Given the description of an element on the screen output the (x, y) to click on. 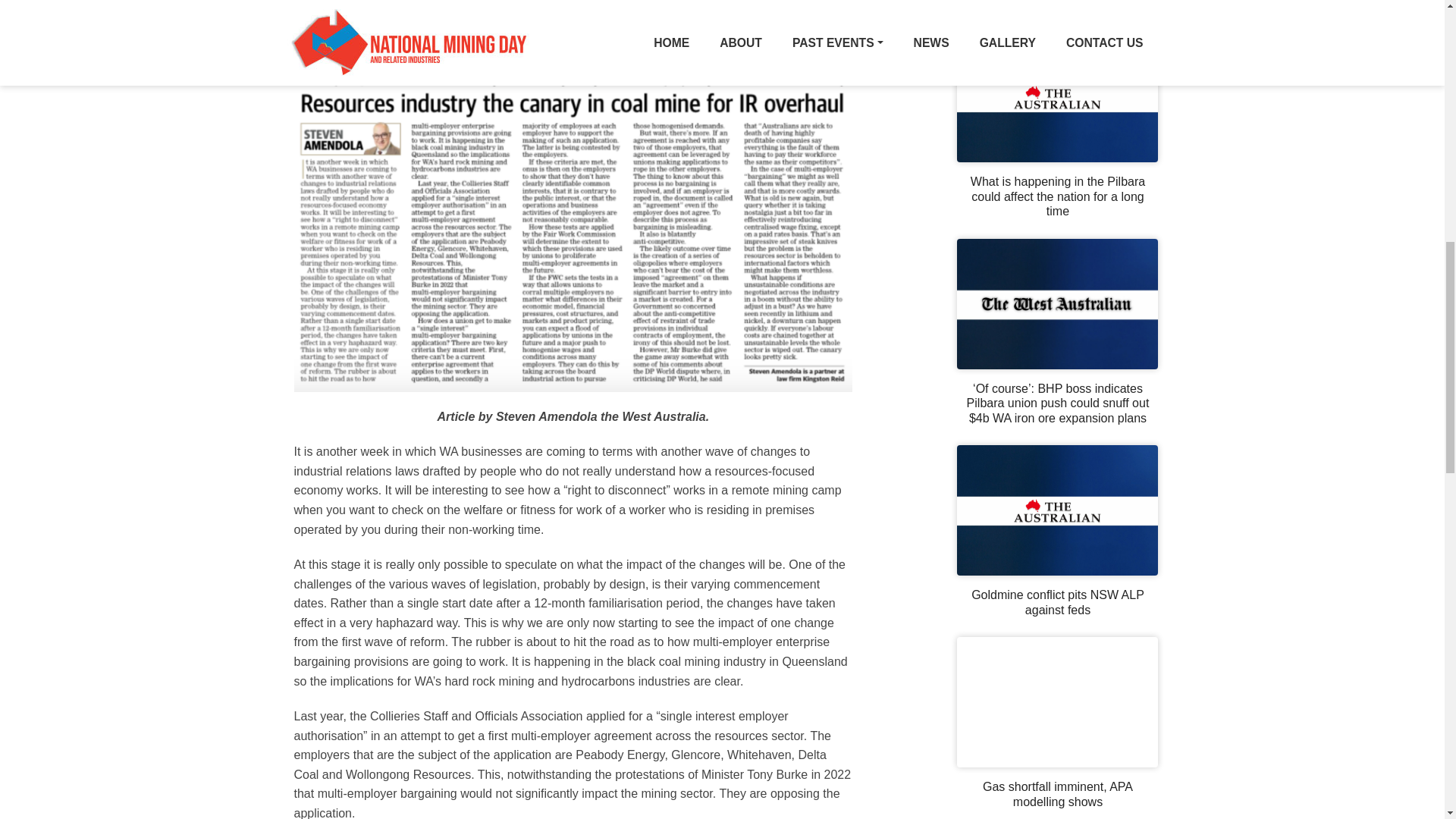
Glencore Advertisement (1056, 6)
Goldmine conflict pits NSW ALP against feds (1056, 602)
Gas shortfall imminent, APA modelling shows (1056, 794)
